Given the description of an element on the screen output the (x, y) to click on. 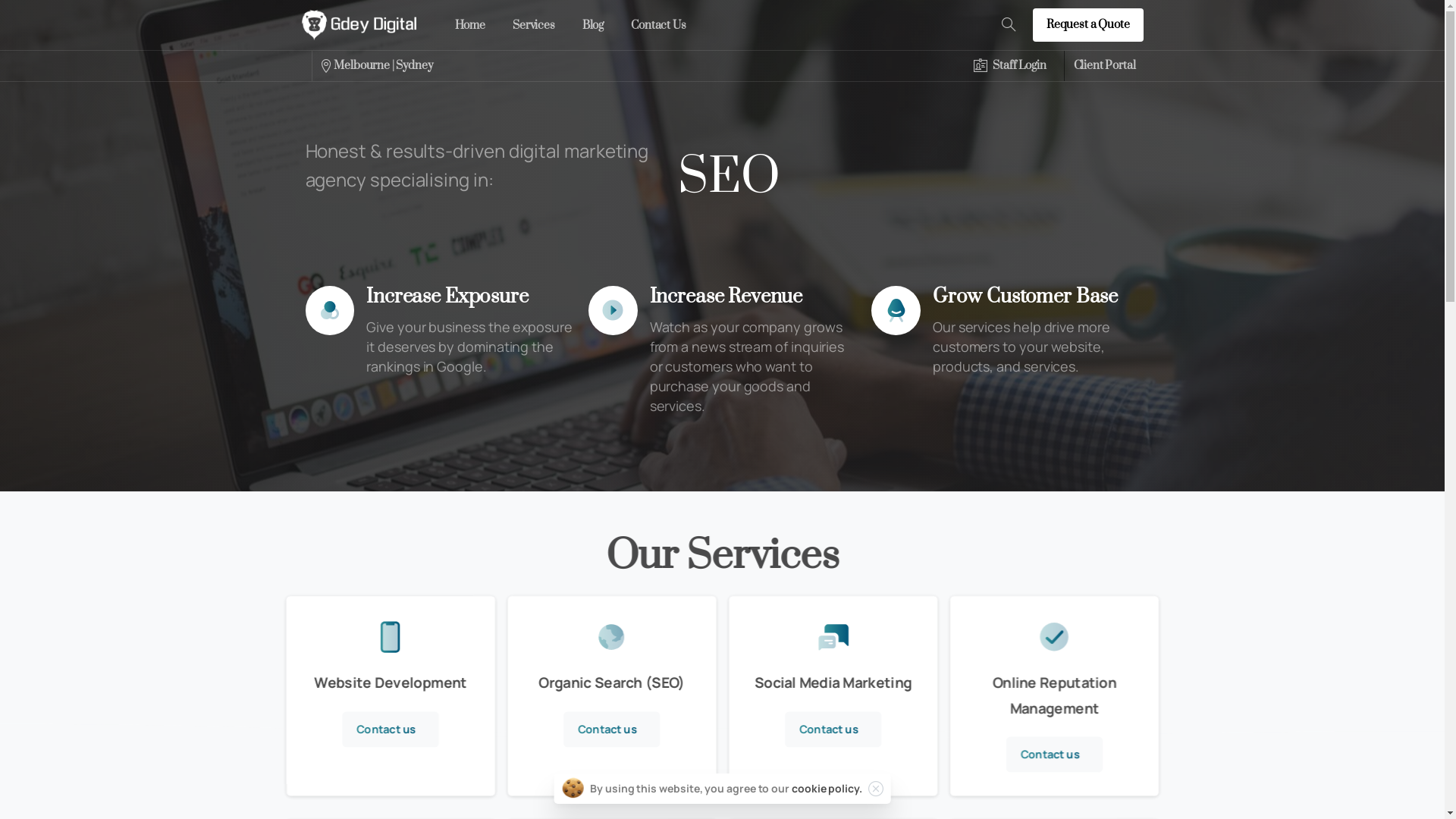
ChatBot Element type: text (800, 672)
Home Element type: text (469, 25)
Contact us Element type: text (388, 727)
Contact us Element type: text (609, 727)
Get in touch Element type: text (1013, 746)
Gdey Digital Element type: text (649, 584)
cookie policy. Element type: text (826, 788)
Services Element type: text (533, 25)
Blog Element type: text (592, 25)
Contact us Element type: text (479, 737)
Request a Quote Element type: text (1087, 24)
Website design Element type: text (800, 584)
Ad Local Element type: text (649, 613)
Social Media Marketing Element type: text (800, 701)
Contact Us Element type: text (657, 25)
SEO Element type: text (800, 643)
PPC Element type: text (800, 613)
Client Portal Element type: text (1104, 65)
Contact us Element type: text (1051, 753)
Only Local Element type: text (649, 643)
OctoBot Element type: text (649, 672)
Contact us Element type: text (830, 727)
Staff Login Element type: text (1009, 65)
